Given the description of an element on the screen output the (x, y) to click on. 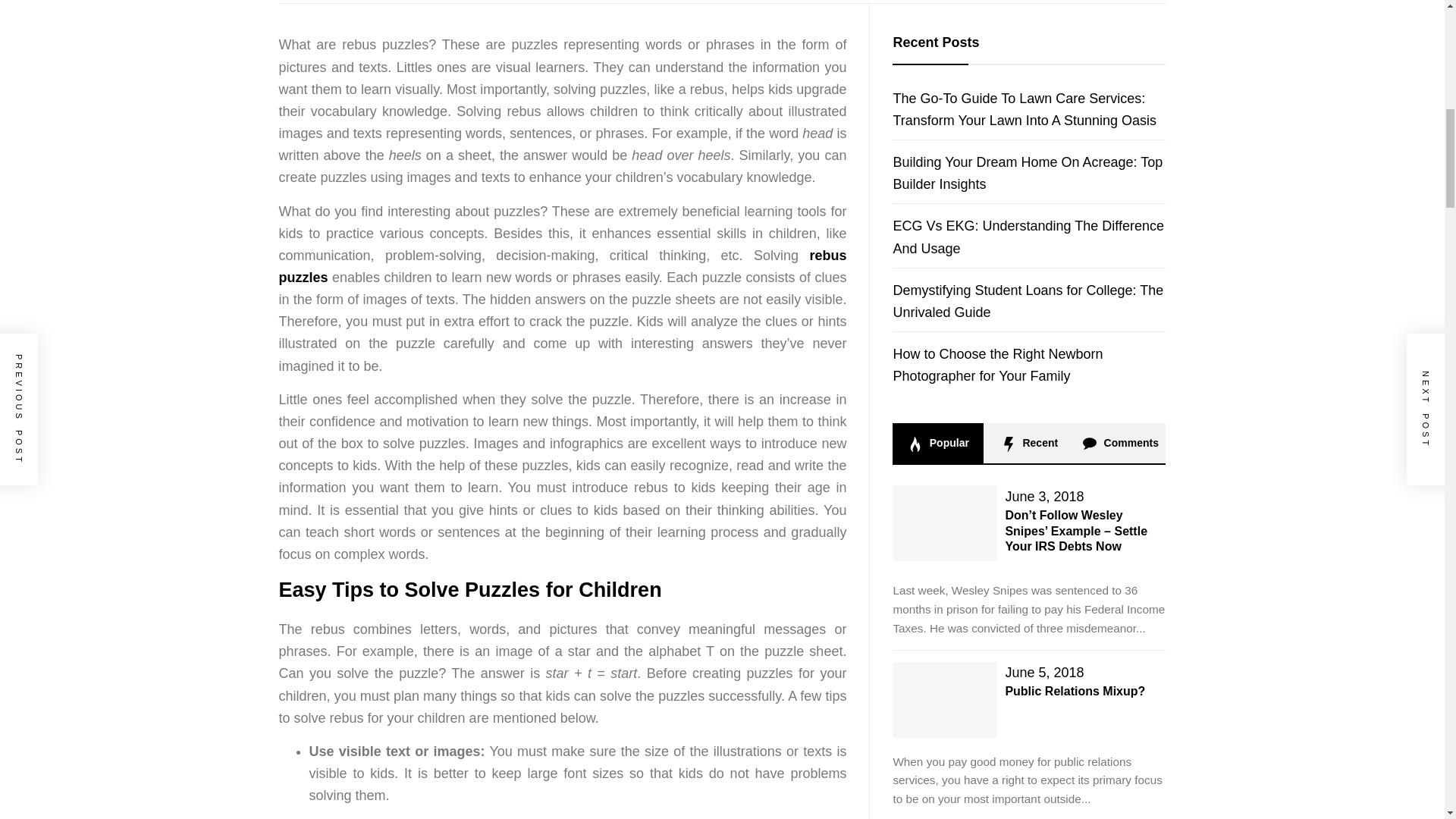
Comments (1120, 443)
rebus puzzles (563, 266)
How to Choose the Right Newborn Photographer for Your Family (997, 365)
Recent (1029, 443)
Demystifying Student Loans for College: The Unrivaled Guide (1027, 301)
Building Your Dream Home On Acreage: Top Builder Insights (1026, 172)
June 3, 2018 (1043, 496)
ECG Vs EKG: Understanding The Difference And Usage (1027, 236)
Popular (938, 443)
